Given the description of an element on the screen output the (x, y) to click on. 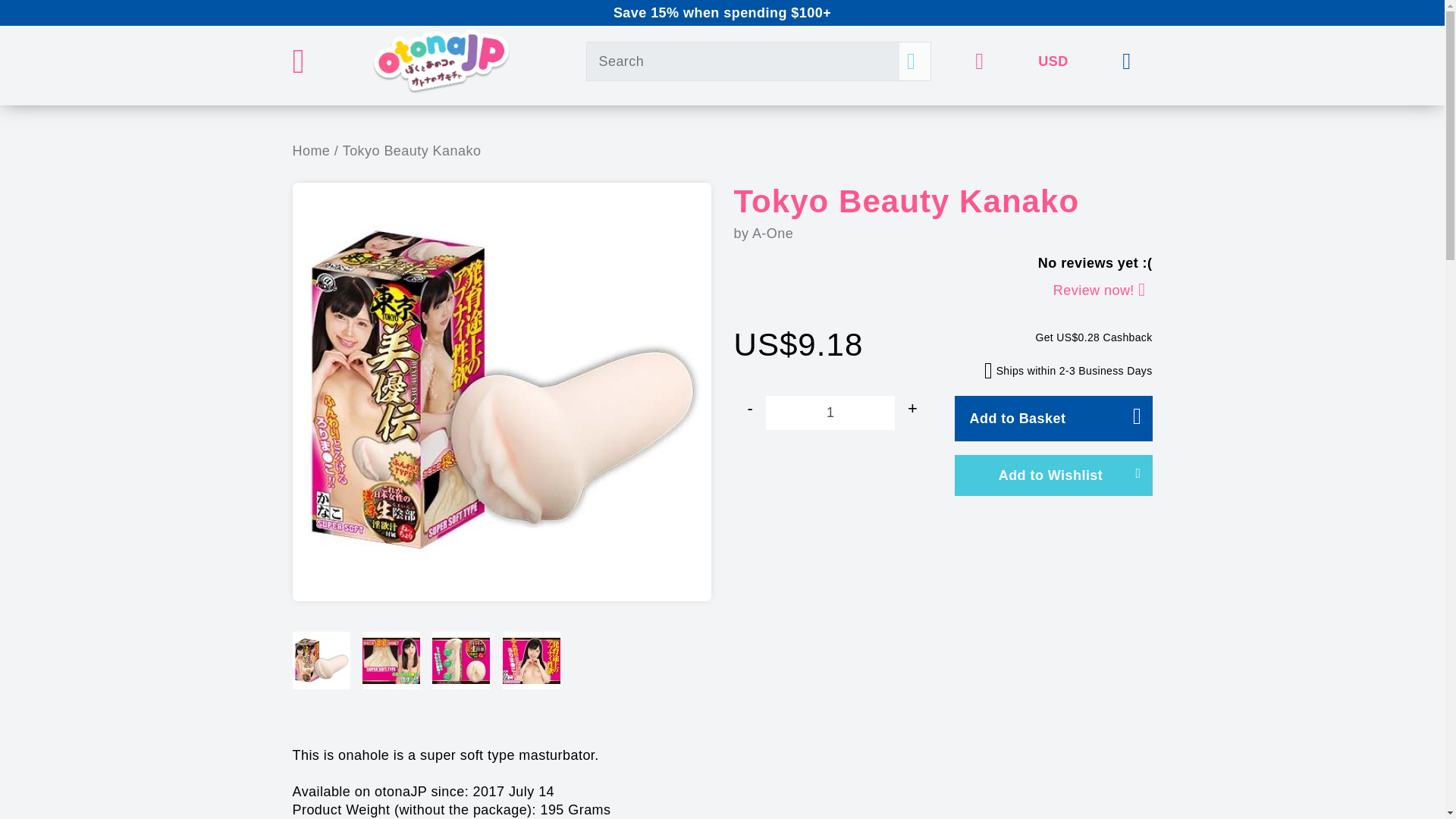
Toggle Page Navigation (304, 69)
1 (830, 412)
All prices are displayed in USD (1052, 61)
USD (1052, 61)
Qty (830, 412)
Add to Basket (1052, 418)
Go to Home Page (315, 150)
Go to frontpage (440, 61)
Add to Wishlist (1052, 475)
